Given the description of an element on the screen output the (x, y) to click on. 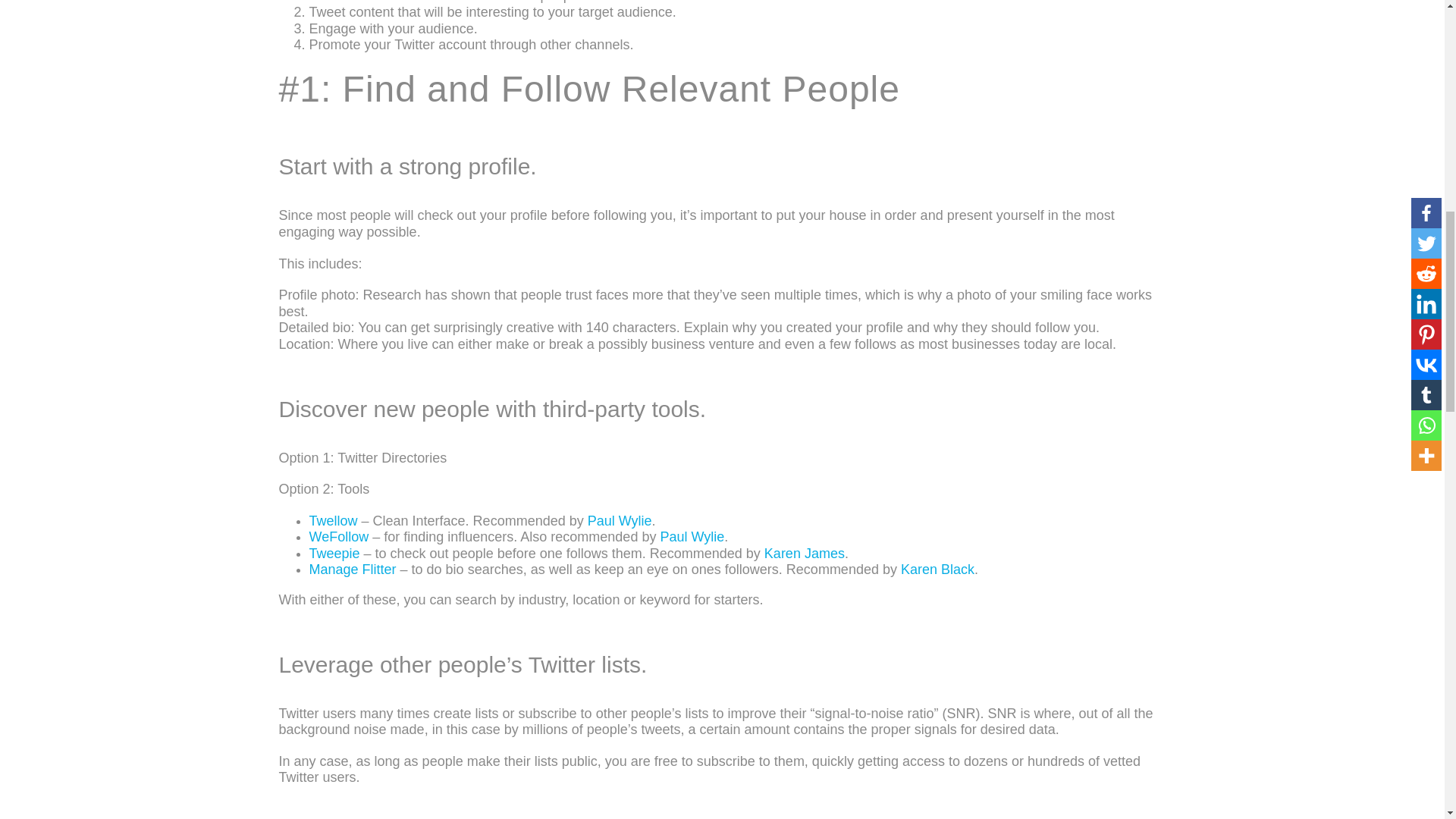
Twellow (333, 520)
Karen Black (937, 569)
Paul Wylie (620, 520)
Karen James (804, 553)
Manage Flitter (352, 569)
WeFollow (338, 536)
twitter-logo (336, 1)
Paul Wylie (691, 536)
Tweepie (333, 553)
